Given the description of an element on the screen output the (x, y) to click on. 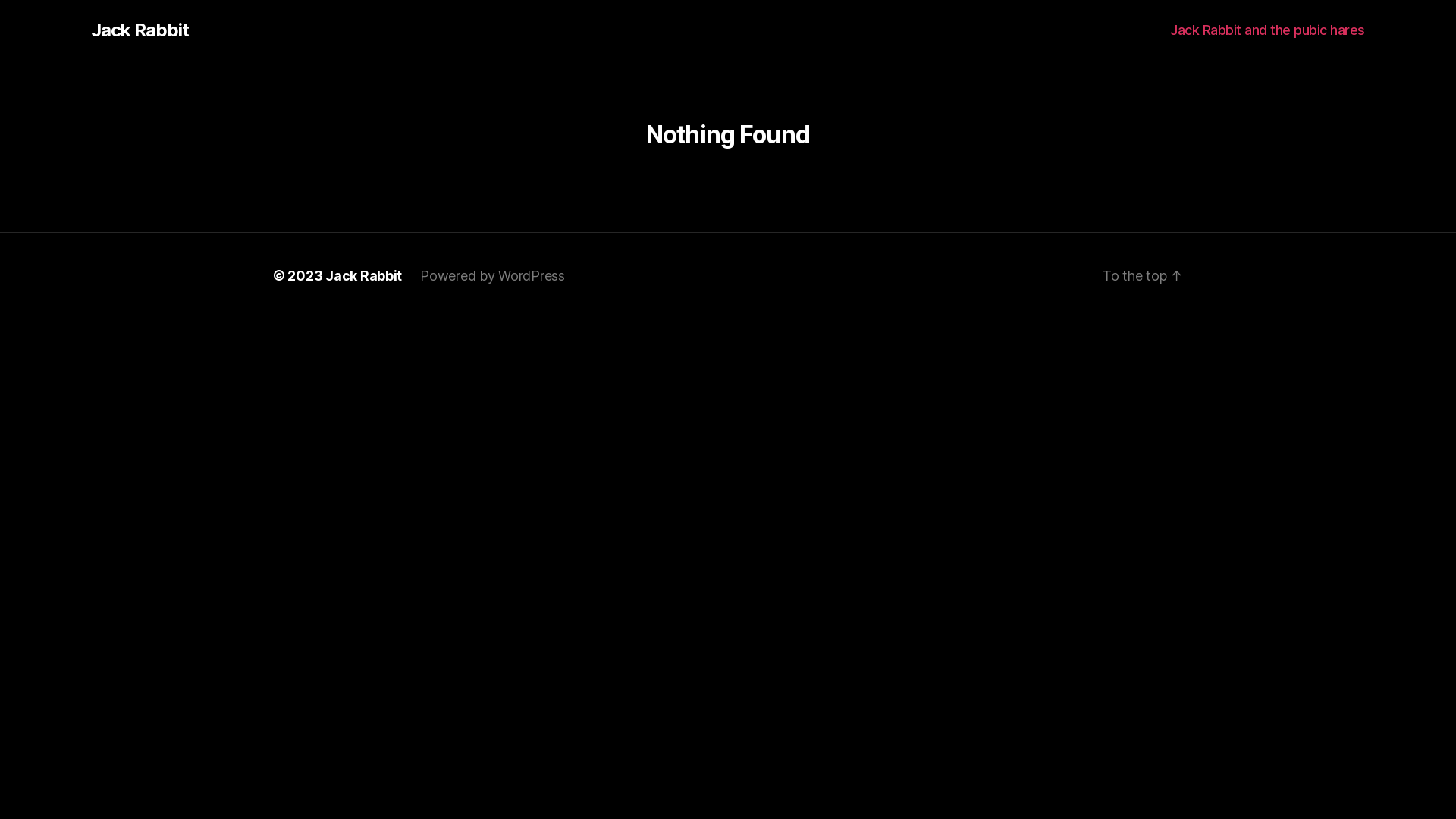
Jack Rabbit Element type: text (139, 30)
Powered by WordPress Element type: text (492, 275)
Jack Rabbit Element type: text (363, 275)
Jack Rabbit and the pubic hares Element type: text (1267, 29)
